Given the description of an element on the screen output the (x, y) to click on. 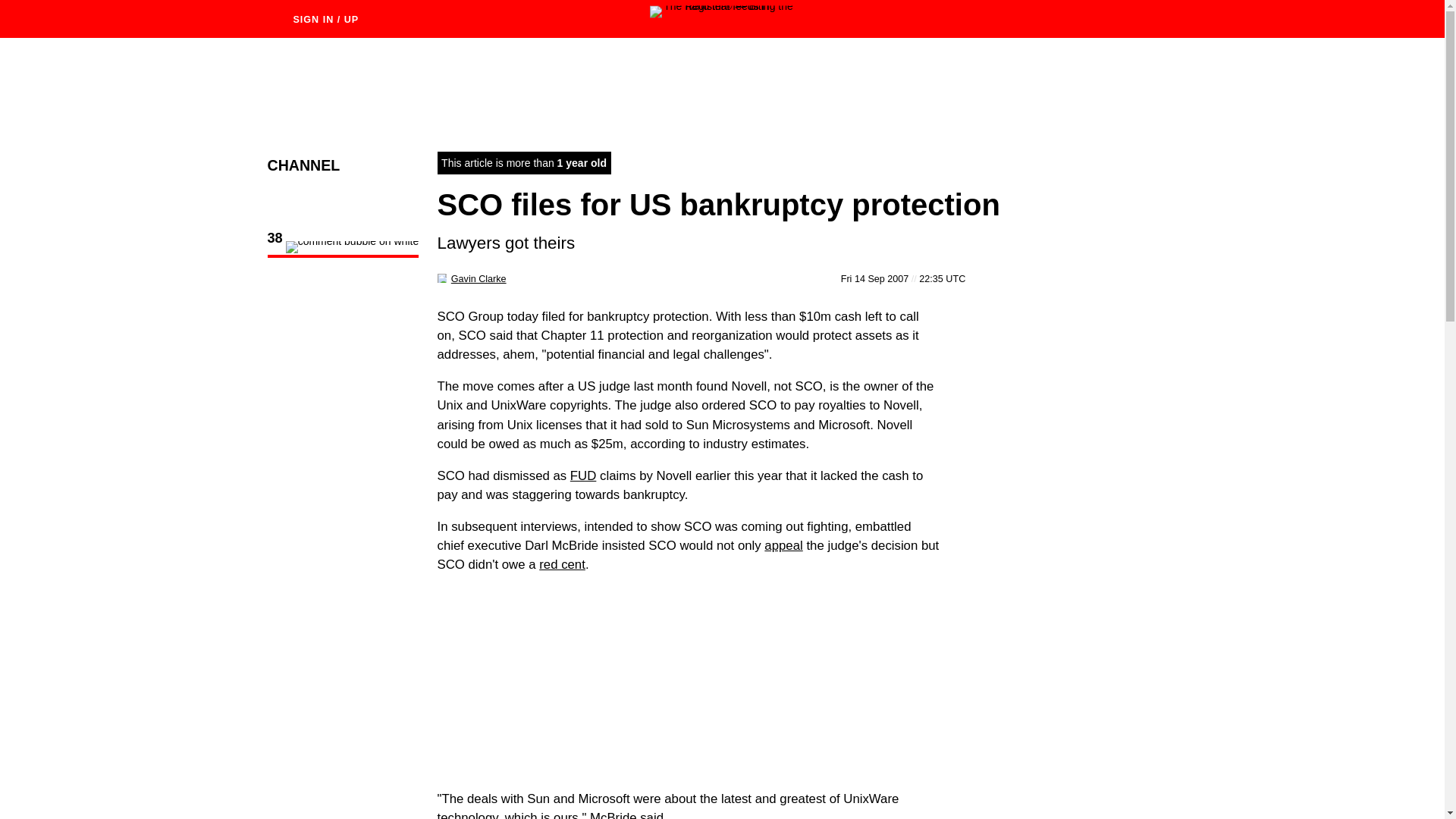
Read more by this author (478, 278)
View comments on this article (342, 248)
